Given the description of an element on the screen output the (x, y) to click on. 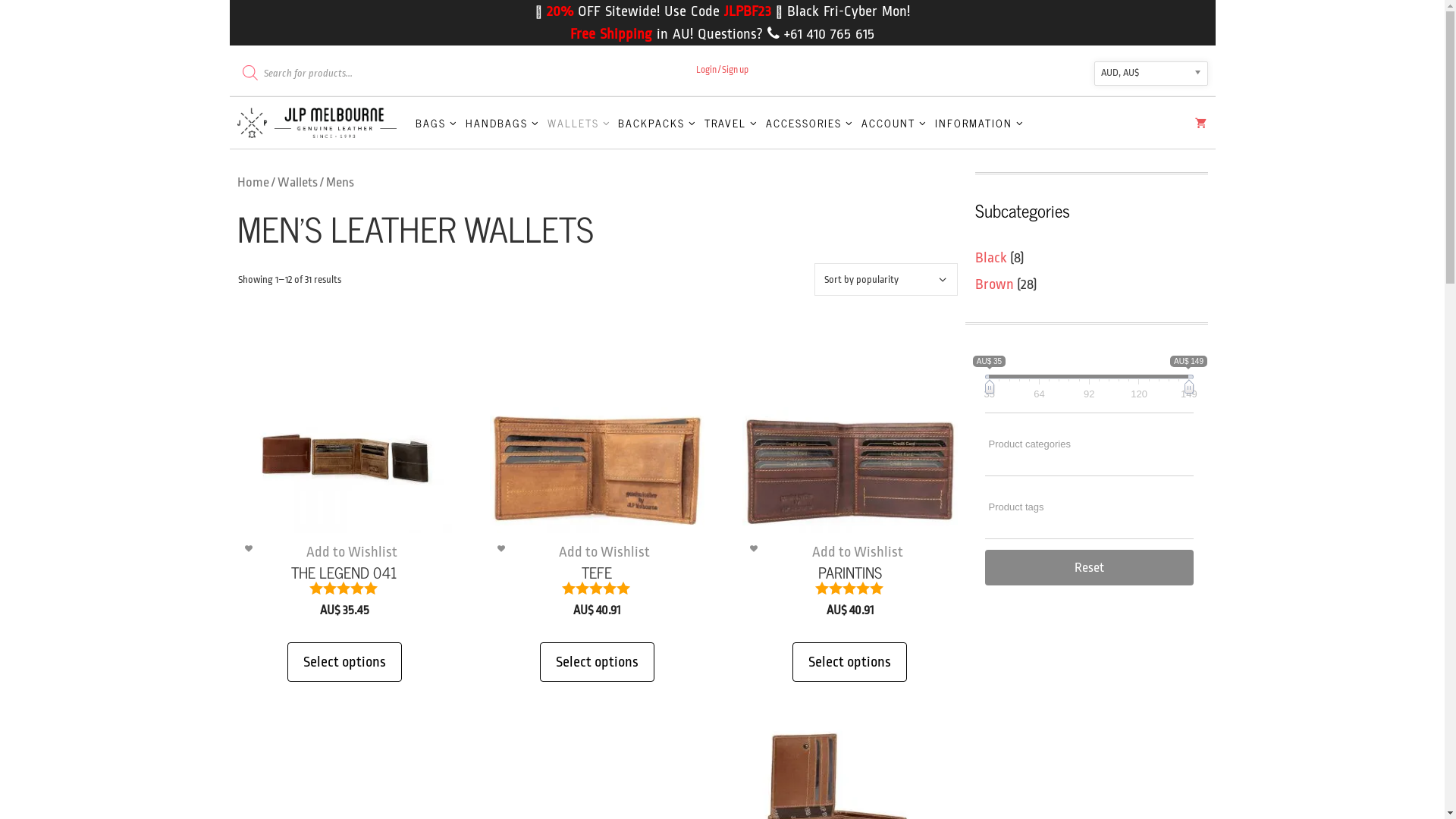
Add to Wishlist Element type: text (603, 551)
Login / Sign up Element type: text (722, 69)
Wallets Element type: text (297, 182)
Select options Element type: text (344, 661)
Select options Element type: text (849, 661)
Brown Element type: text (994, 284)
ACCOUNT Element type: text (894, 122)
Black Element type: text (991, 256)
TRAVEL Element type: text (731, 122)
Select options Element type: text (596, 661)
View your shopping cart Element type: hover (1200, 125)
WALLETS Element type: text (579, 122)
Reset Element type: text (1088, 566)
BACKPACKS Element type: text (657, 122)
Add to Wishlist Element type: text (351, 551)
JLP Melbourne Element type: hover (316, 122)
Add to Wishlist Element type: text (857, 551)
ACCESSORIES Element type: text (809, 122)
JLP Melbourne Element type: hover (320, 122)
BAGS Element type: text (436, 122)
INFORMATION Element type: text (979, 122)
AUD, AU$ Element type: text (1150, 72)
Home Element type: text (252, 182)
HANDBAGS Element type: text (502, 122)
